Given the description of an element on the screen output the (x, y) to click on. 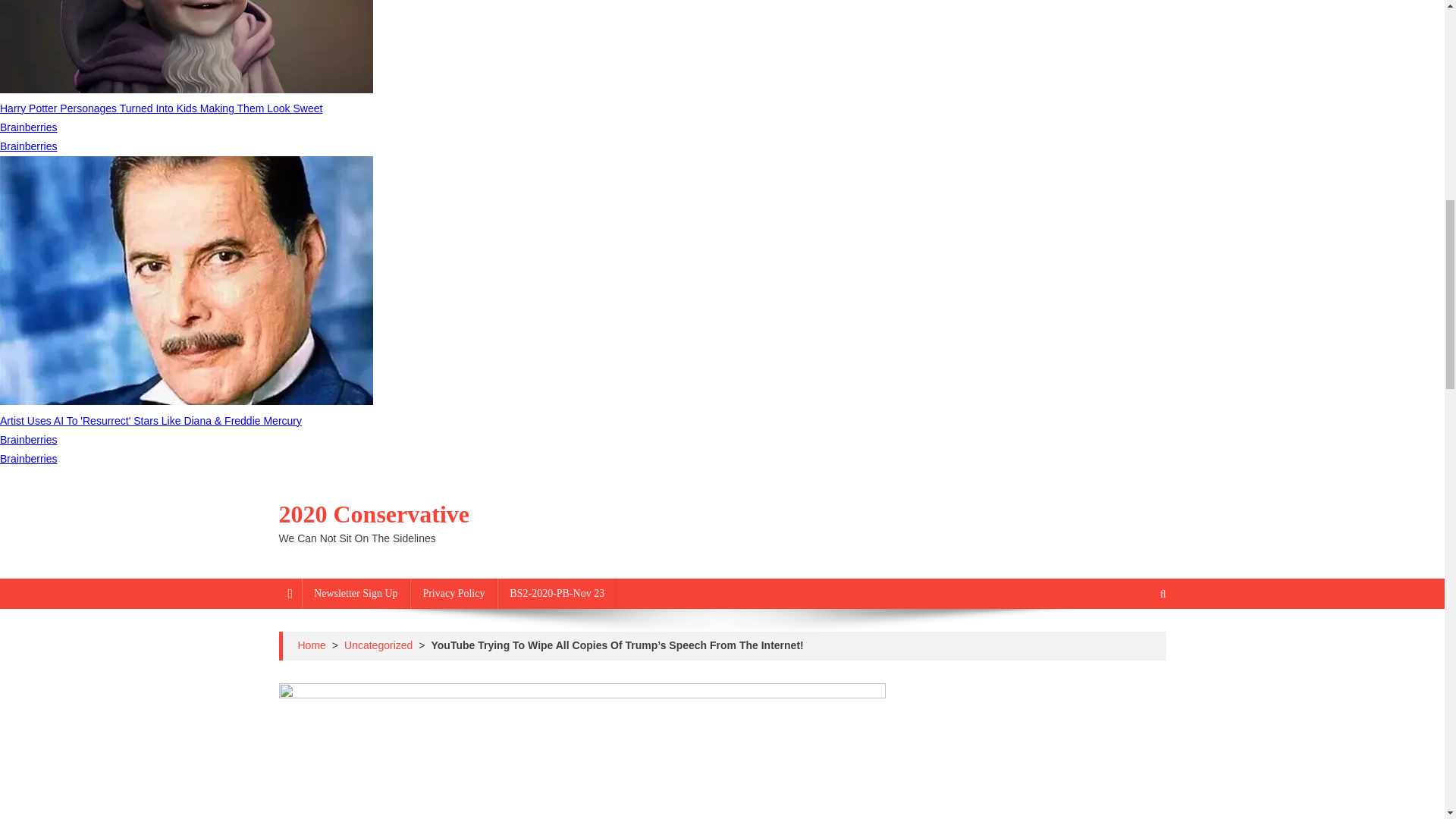
2020 Conservative (374, 513)
Search (1133, 644)
BS2-2020-PB-Nov 23 (556, 593)
Uncategorized (377, 645)
Home (310, 645)
Privacy Policy (453, 593)
Newsletter Sign Up (355, 593)
